Given the description of an element on the screen output the (x, y) to click on. 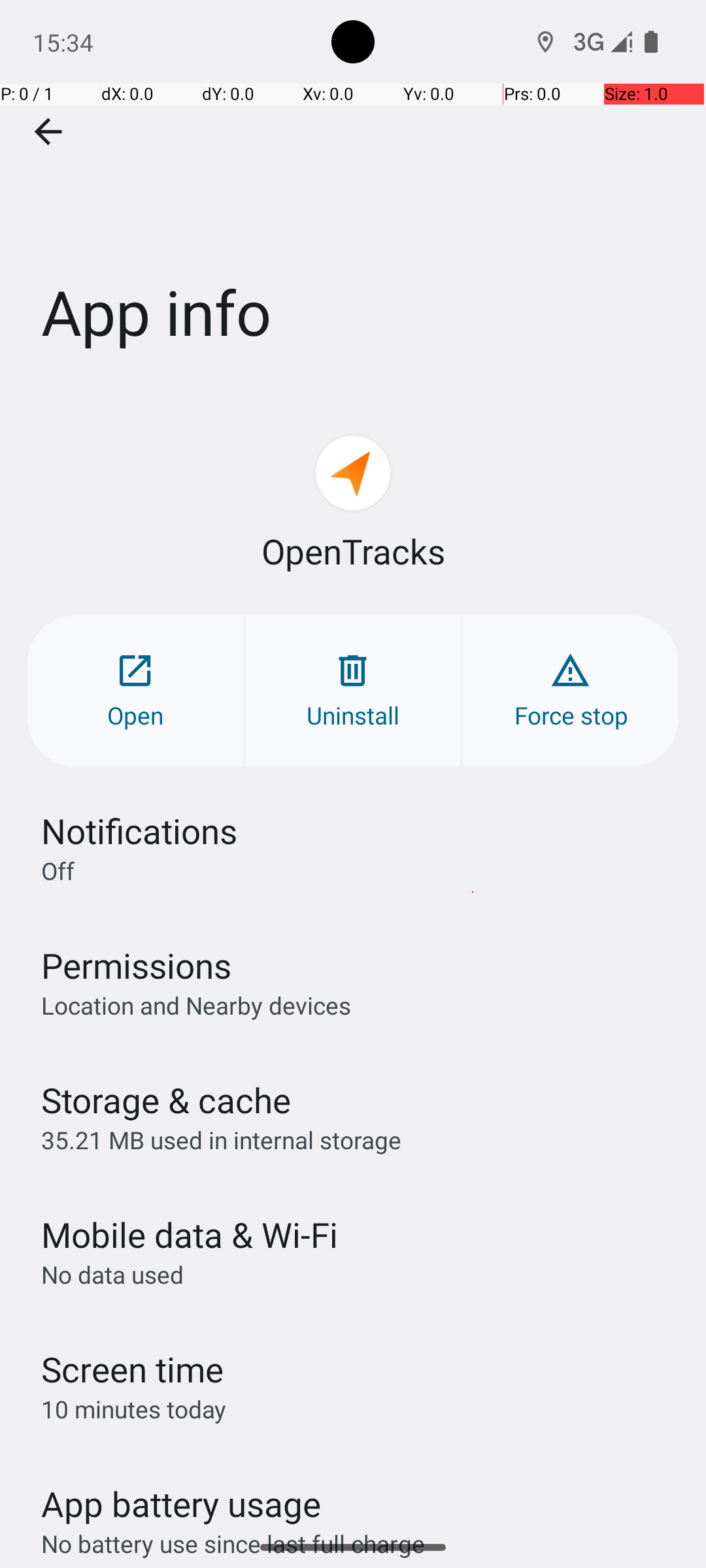
Open Element type: android.widget.Button (135, 690)
Uninstall Element type: android.widget.Button (352, 690)
Location and Nearby devices Element type: android.widget.TextView (196, 1004)
35.21 MB used in internal storage Element type: android.widget.TextView (221, 1139)
No data used Element type: android.widget.TextView (112, 1273)
10 minutes today Element type: android.widget.TextView (133, 1408)
App battery usage Element type: android.widget.TextView (181, 1503)
